Given the description of an element on the screen output the (x, y) to click on. 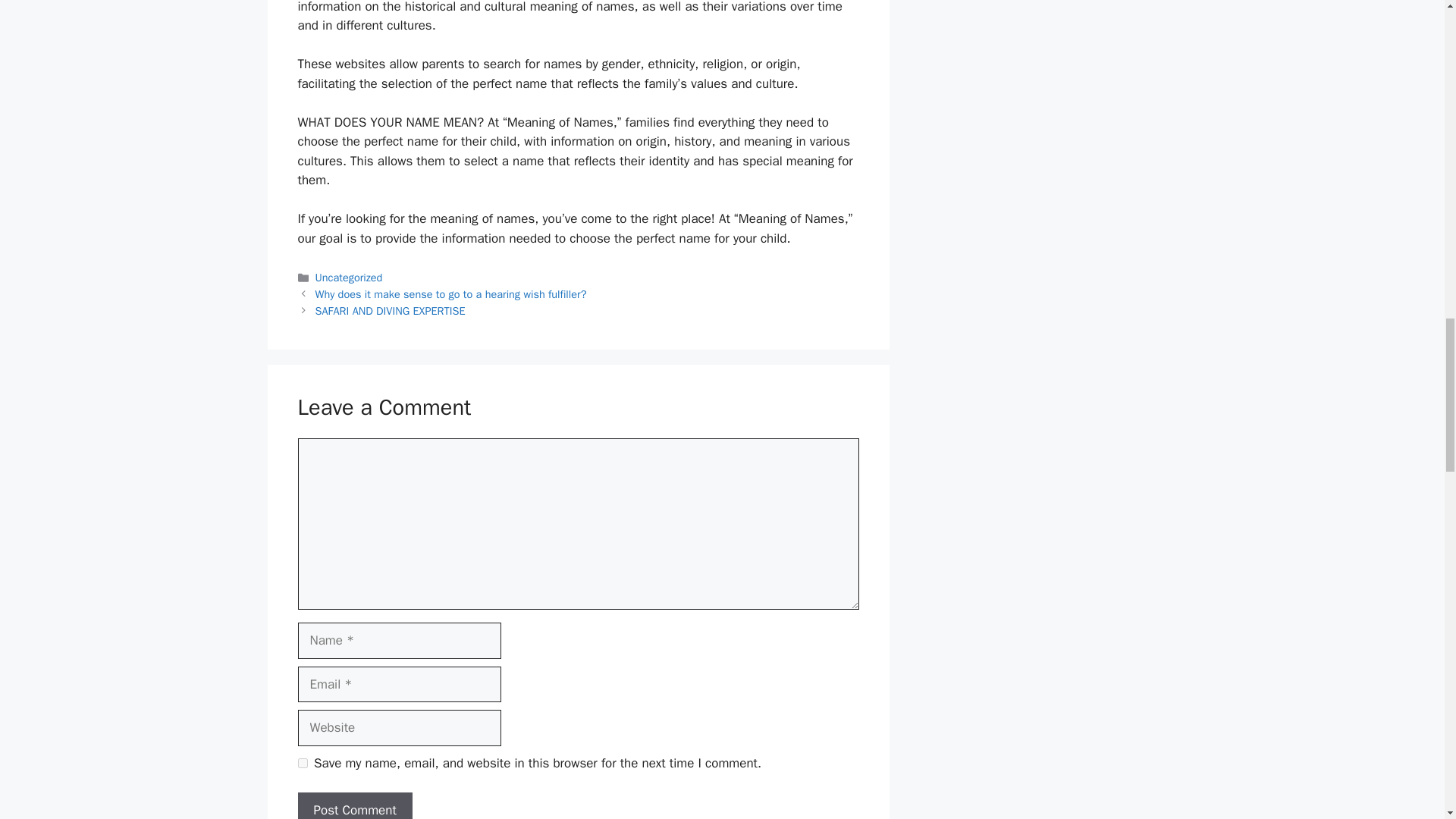
yes (302, 763)
Why does it make sense to go to a hearing wish fulfiller? (450, 294)
Post Comment (354, 805)
SAFARI AND DIVING EXPERTISE (390, 310)
Post Comment (354, 805)
Uncategorized (348, 277)
